Given the description of an element on the screen output the (x, y) to click on. 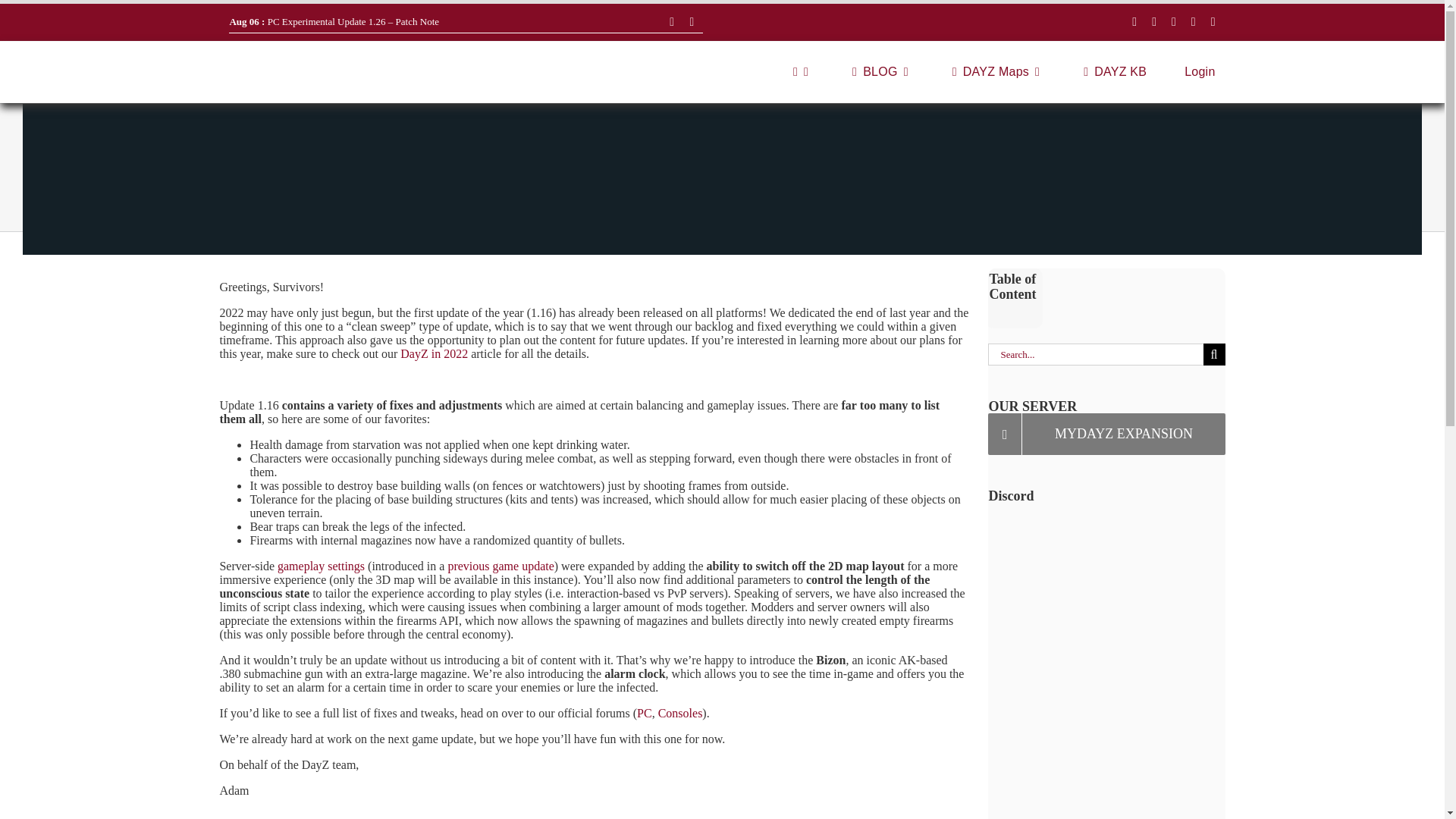
Home (1127, 777)
previous game update (499, 565)
MYDAYZ EXPANSION SERVER INFORMATIONS (1106, 434)
DayZ in 2022  (435, 353)
gameplay settings (321, 565)
BLOG (876, 71)
PC (644, 712)
DAYZ KB (1112, 71)
DAYZ Maps (992, 71)
